Given the description of an element on the screen output the (x, y) to click on. 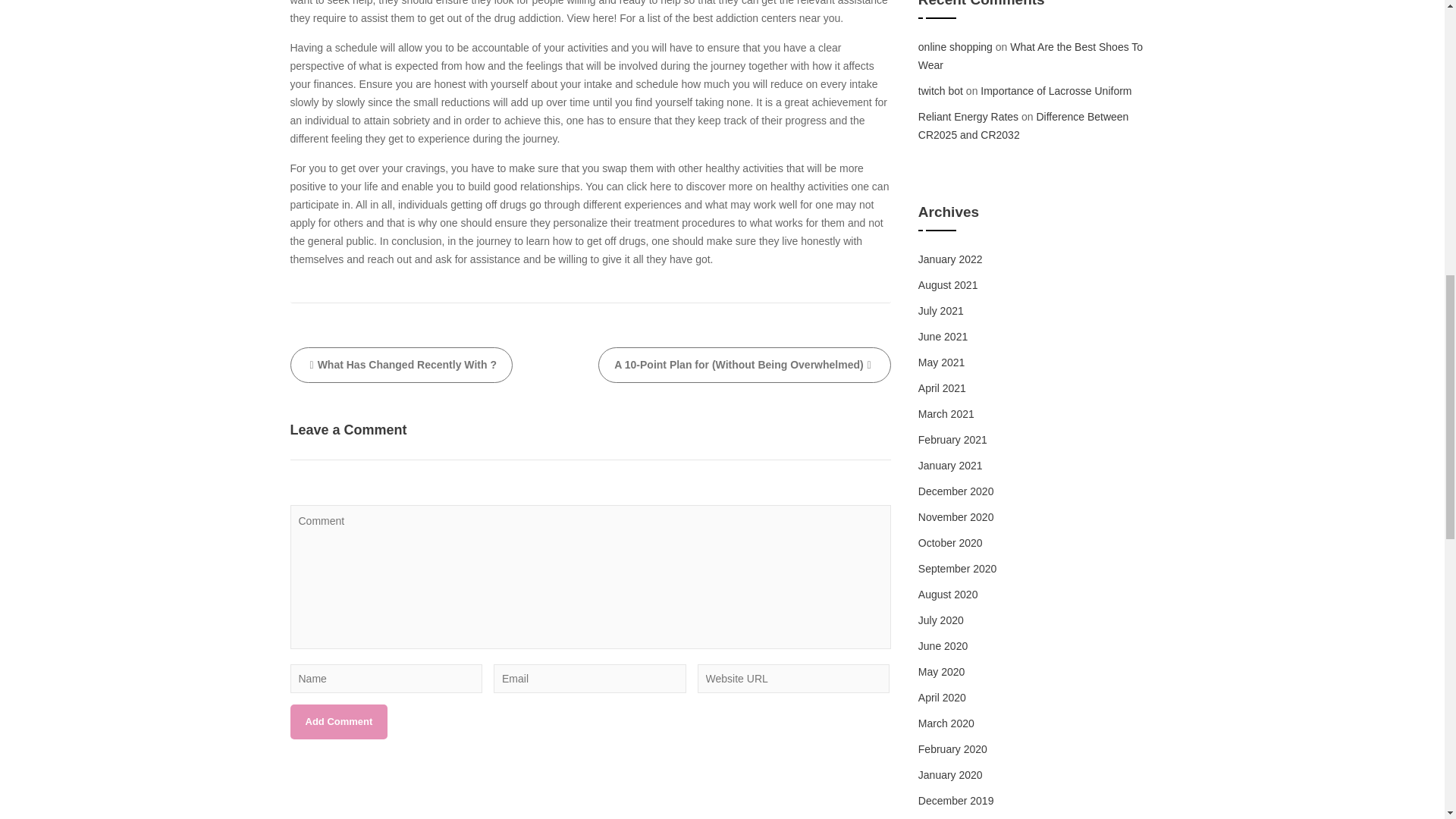
May 2021 (940, 362)
January 2022 (950, 259)
July 2021 (940, 310)
Difference Between CR2025 and CR2032 (1023, 125)
February 2021 (952, 439)
What Has Changed Recently With ? (400, 365)
twitch bot (940, 91)
April 2021 (942, 387)
Add Comment (338, 721)
online shopping (955, 46)
Add Comment (338, 721)
January 2021 (950, 465)
June 2021 (943, 336)
November 2020 (956, 517)
October 2020 (950, 542)
